Given the description of an element on the screen output the (x, y) to click on. 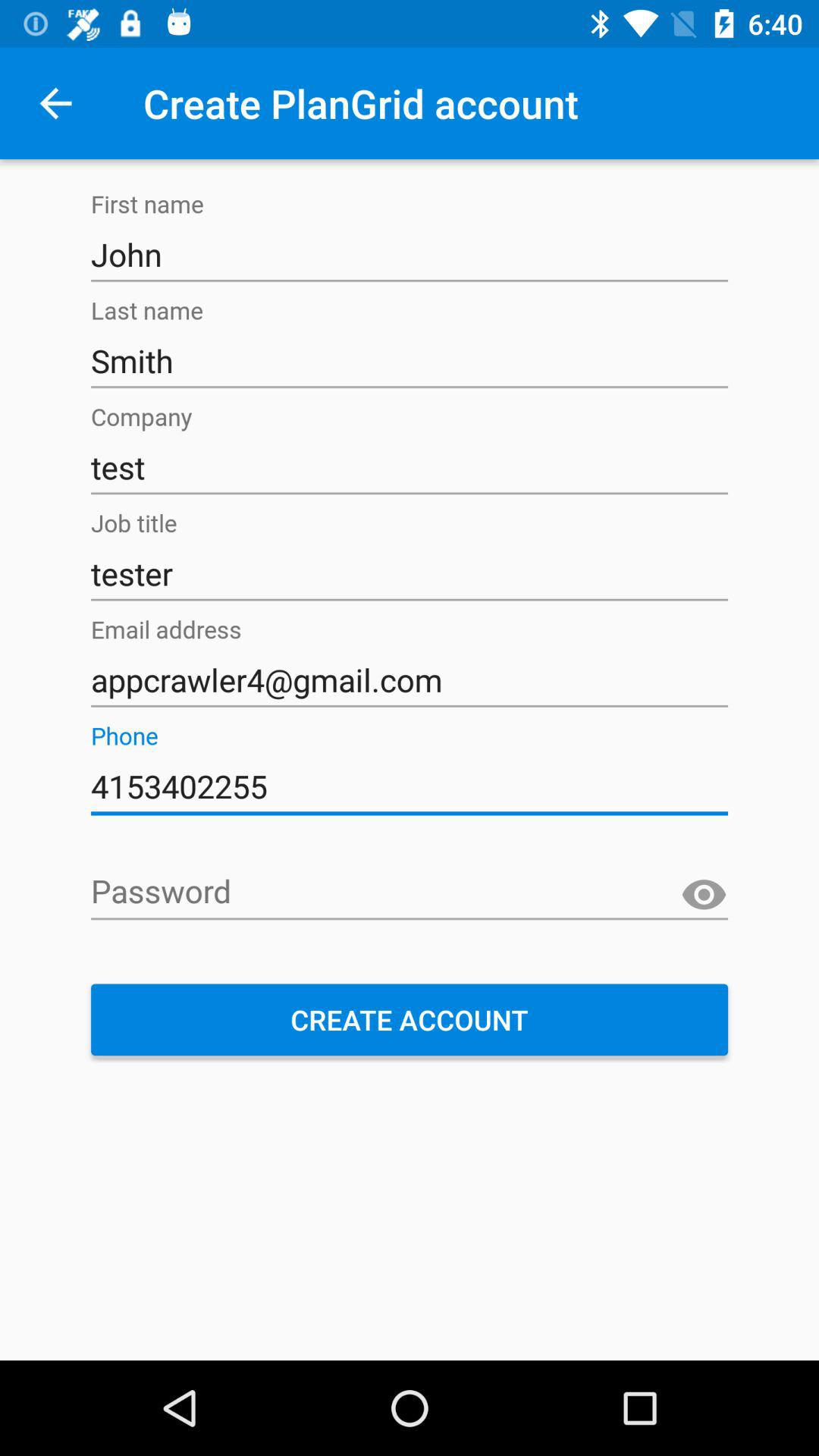
select the icon above create account (409, 892)
